Given the description of an element on the screen output the (x, y) to click on. 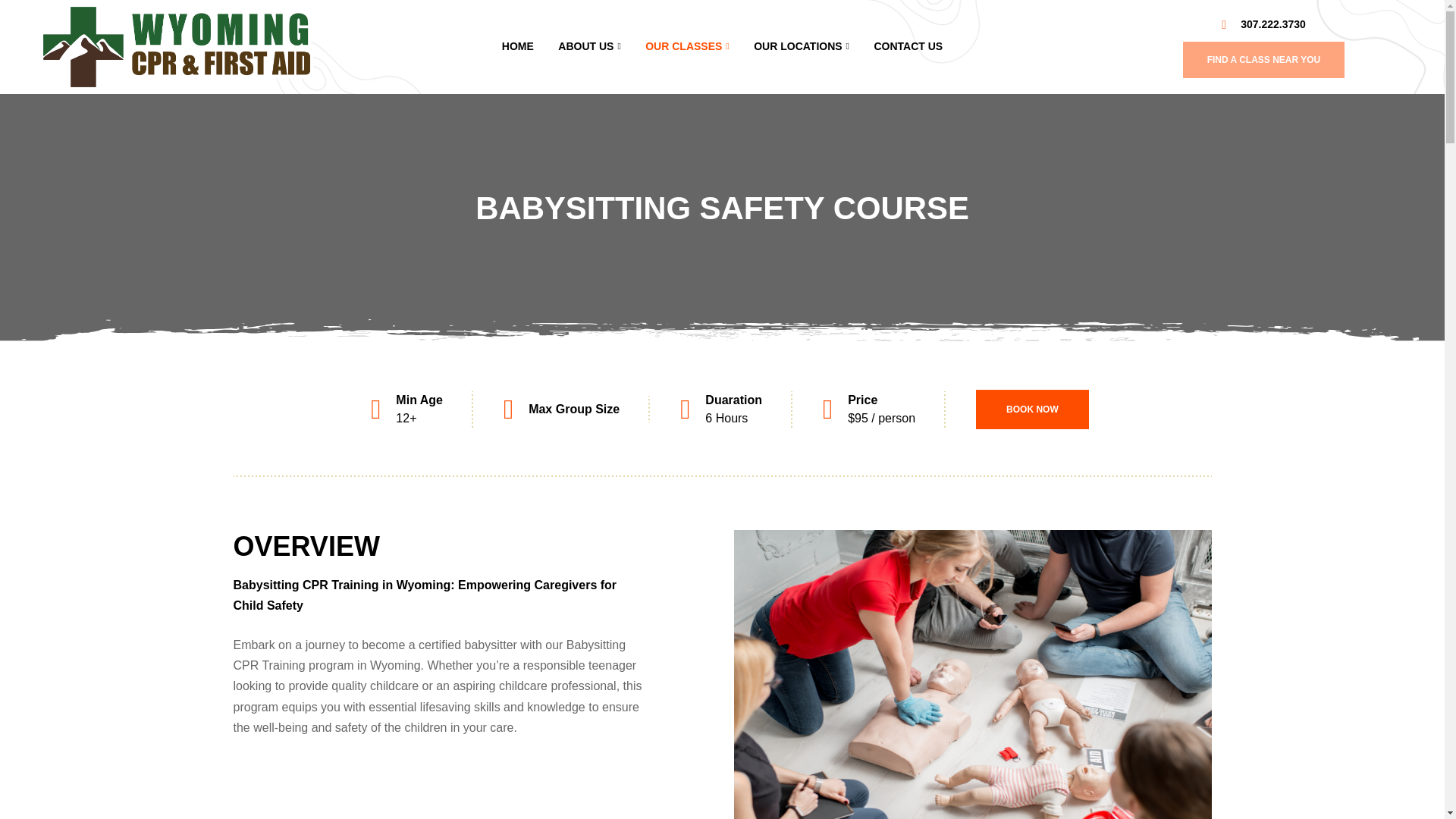
OUR CLASSES (686, 47)
FIND A CLASS NEAR YOU (1263, 59)
ABOUT US (589, 47)
CONTACT US (908, 47)
307.222.3730 (1263, 24)
OUR LOCATIONS (801, 47)
